Given the description of an element on the screen output the (x, y) to click on. 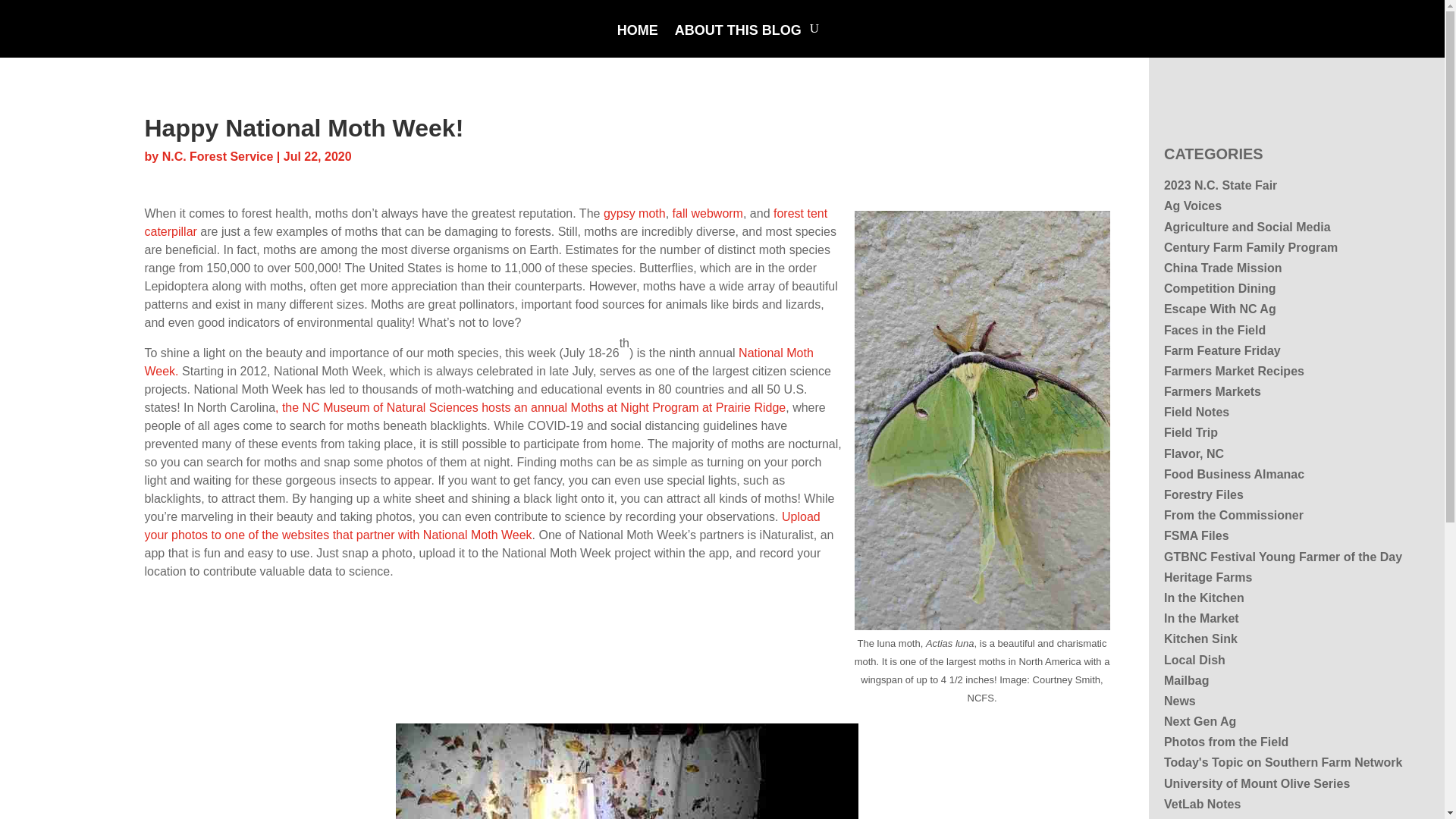
China Trade Mission (1222, 267)
News (1179, 700)
Agriculture and Social Media (1246, 226)
Kitchen Sink (1200, 638)
forest tent caterpillar (485, 221)
Food Business Almanac (1233, 473)
GTBNC Festival Young Farmer of the Day (1282, 556)
Ag Voices (1192, 205)
2023 N.C. State Fair (1219, 185)
N.C. Forest Service (217, 155)
